Given the description of an element on the screen output the (x, y) to click on. 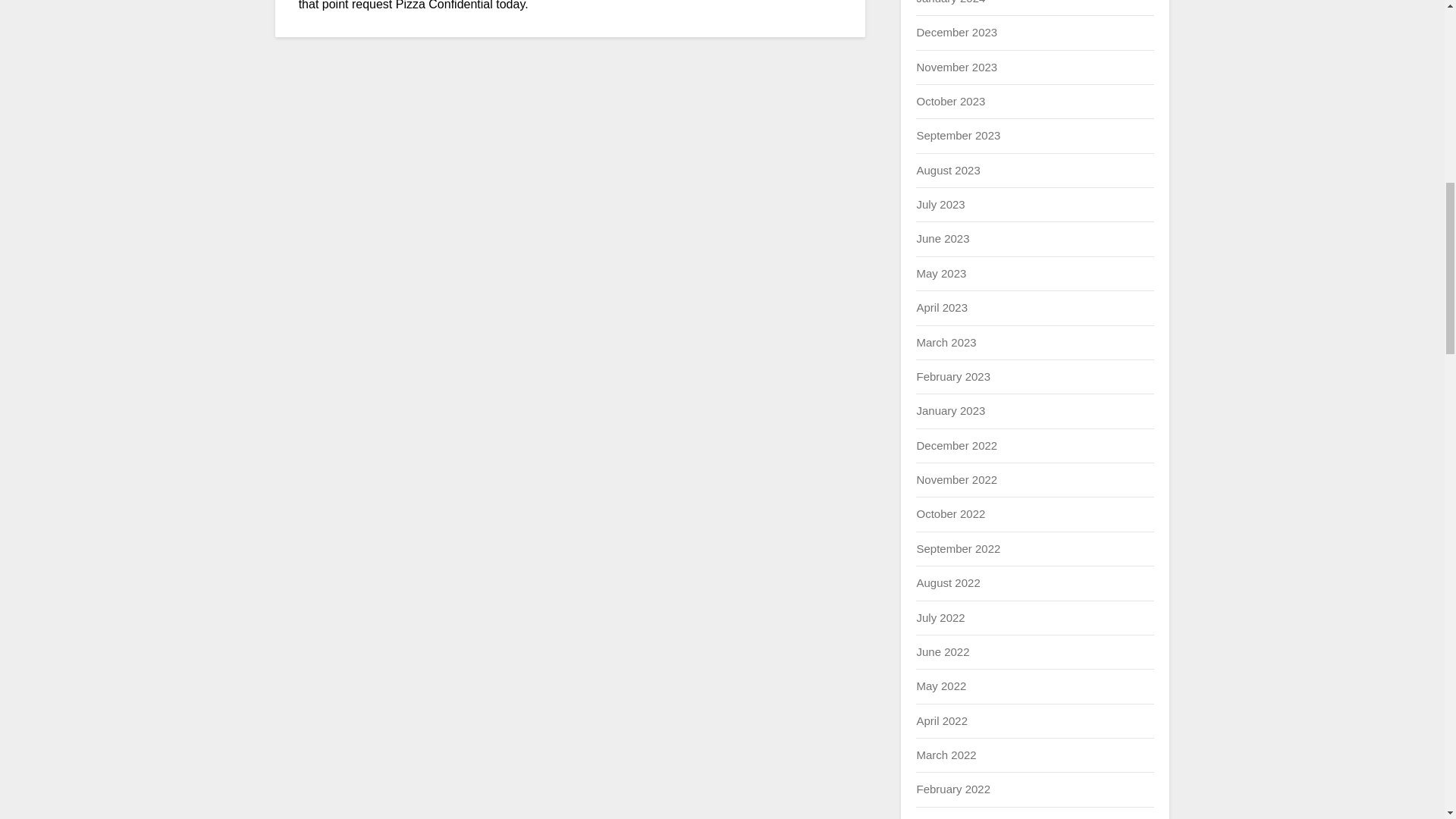
January 2024 (950, 2)
July 2022 (939, 617)
February 2023 (952, 376)
August 2023 (947, 169)
June 2023 (942, 237)
January 2023 (950, 410)
April 2022 (941, 720)
December 2022 (956, 445)
October 2023 (950, 101)
May 2022 (940, 685)
